Given the description of an element on the screen output the (x, y) to click on. 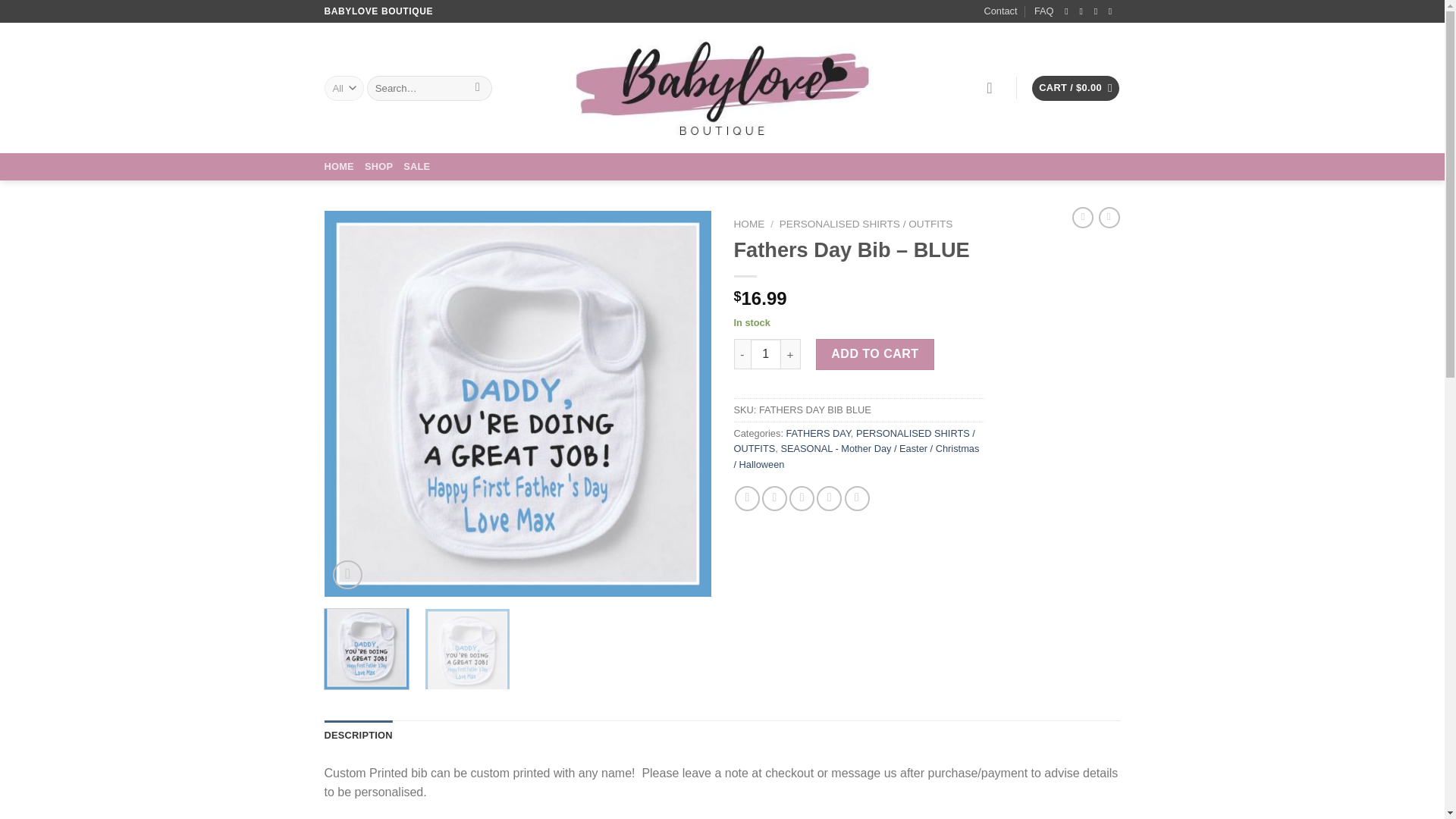
Babylove Boutique - Baby Boutique (721, 87)
SALE (416, 166)
SHOP (379, 166)
Qty (765, 354)
Contact (1000, 11)
Email to a Friend (801, 498)
Zoom (347, 574)
ADD TO CART (874, 354)
HOME (749, 224)
Share on Facebook (747, 498)
